Given the description of an element on the screen output the (x, y) to click on. 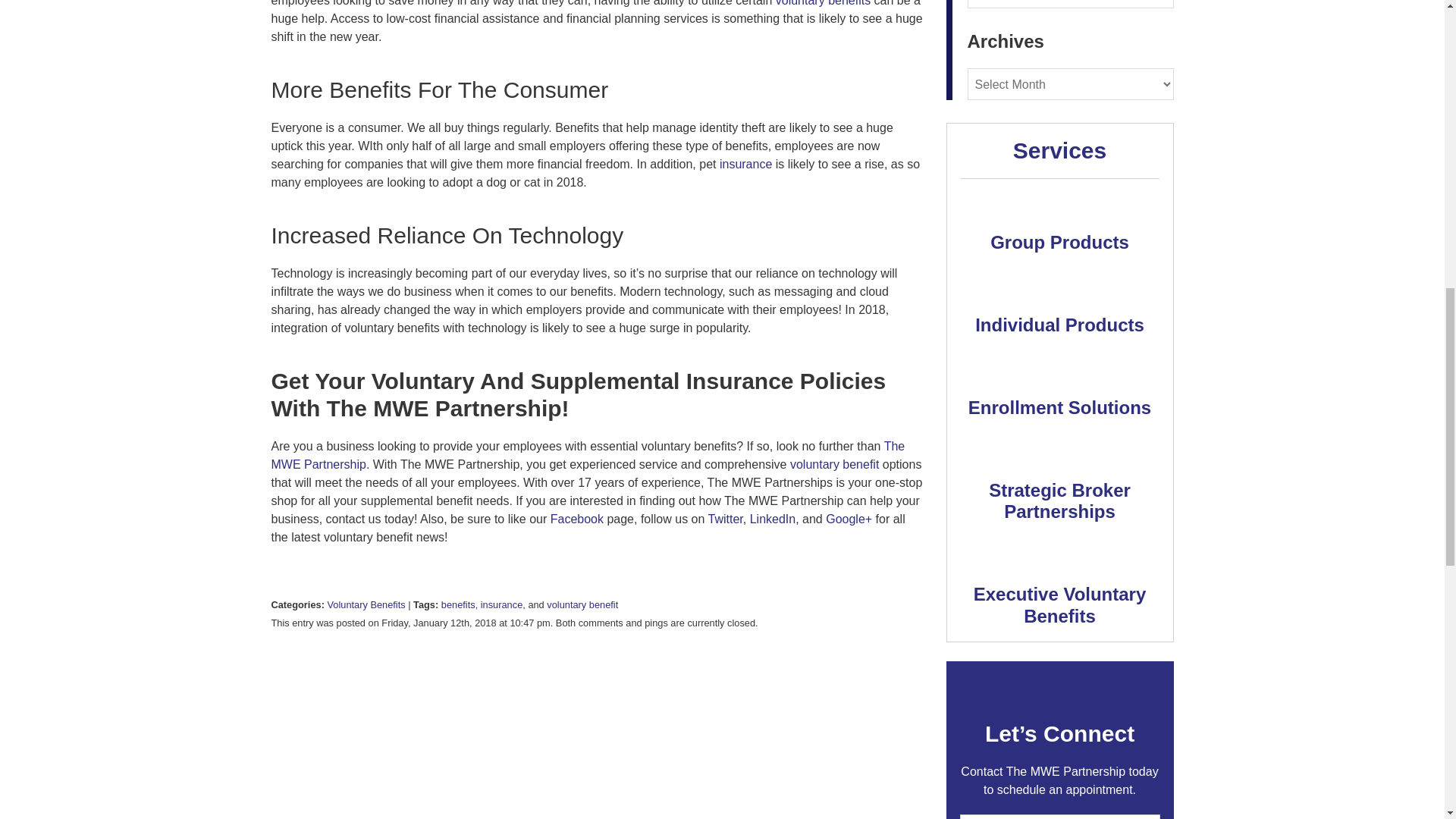
benefits (458, 604)
LinkedIn (772, 518)
voluntary benefit (834, 463)
voluntary benefits (823, 3)
Twitter (724, 518)
insurance (745, 164)
Voluntary Benefits (365, 604)
voluntary benefit (582, 604)
insurance (501, 604)
The MWE Partnership (587, 454)
Facebook (577, 518)
